Given the description of an element on the screen output the (x, y) to click on. 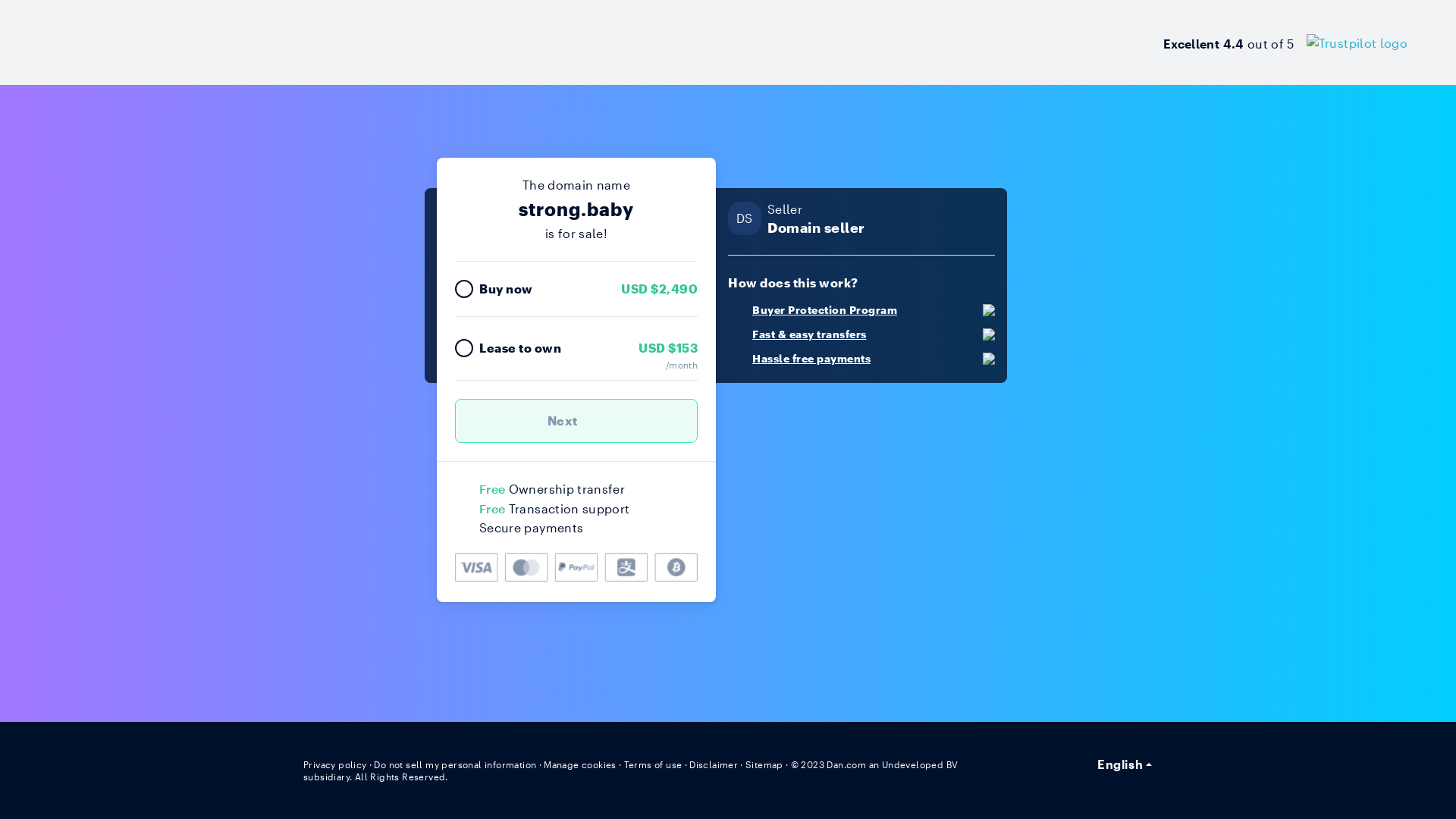
Disclaimer Element type: text (713, 764)
Terms of use Element type: text (653, 764)
English Element type: text (1124, 764)
Manage cookies Element type: text (579, 764)
Do not sell my personal information Element type: text (454, 764)
Privacy policy Element type: text (335, 764)
Next
) Element type: text (576, 420)
Excellent 4.4 out of 5 Element type: text (1285, 42)
Sitemap Element type: text (764, 764)
